Given the description of an element on the screen output the (x, y) to click on. 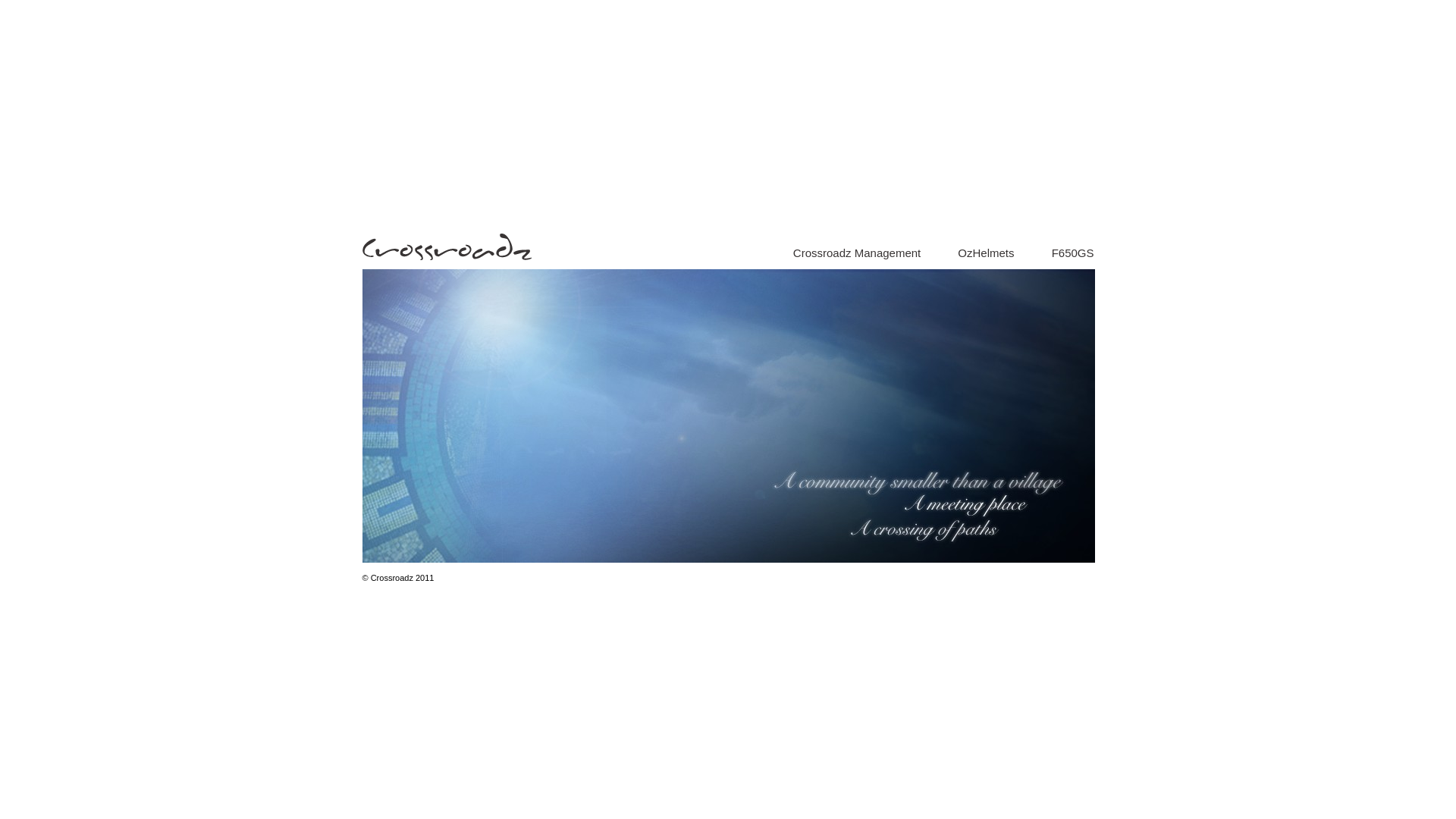
F650GS Element type: text (1072, 252)
Crossroadz Management Element type: text (856, 252)
  Element type: text (1032, 252)
  Element type: text (939, 252)
OzHelmets Element type: text (985, 252)
